Given the description of an element on the screen output the (x, y) to click on. 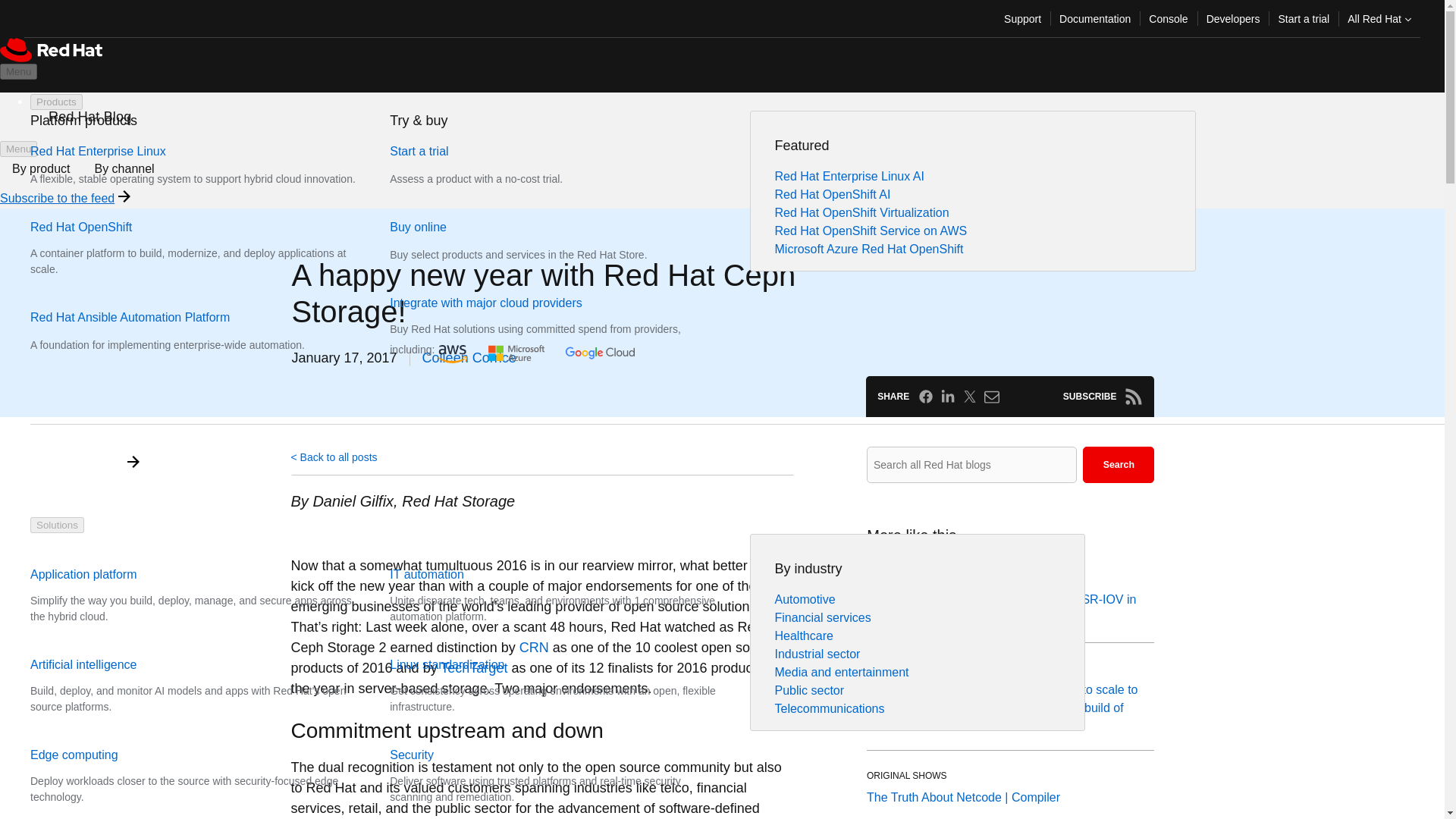
All Red Hat (1379, 18)
Developers (1232, 18)
Start a trialAssess a product with a no-cost trial. (505, 165)
Documentation (1094, 18)
Start a trial (1303, 18)
Subscribe to the feed (57, 197)
Console (1168, 18)
Subscribe (1132, 396)
Support (1021, 18)
See more by Colleen Corrice (469, 357)
